Given the description of an element on the screen output the (x, y) to click on. 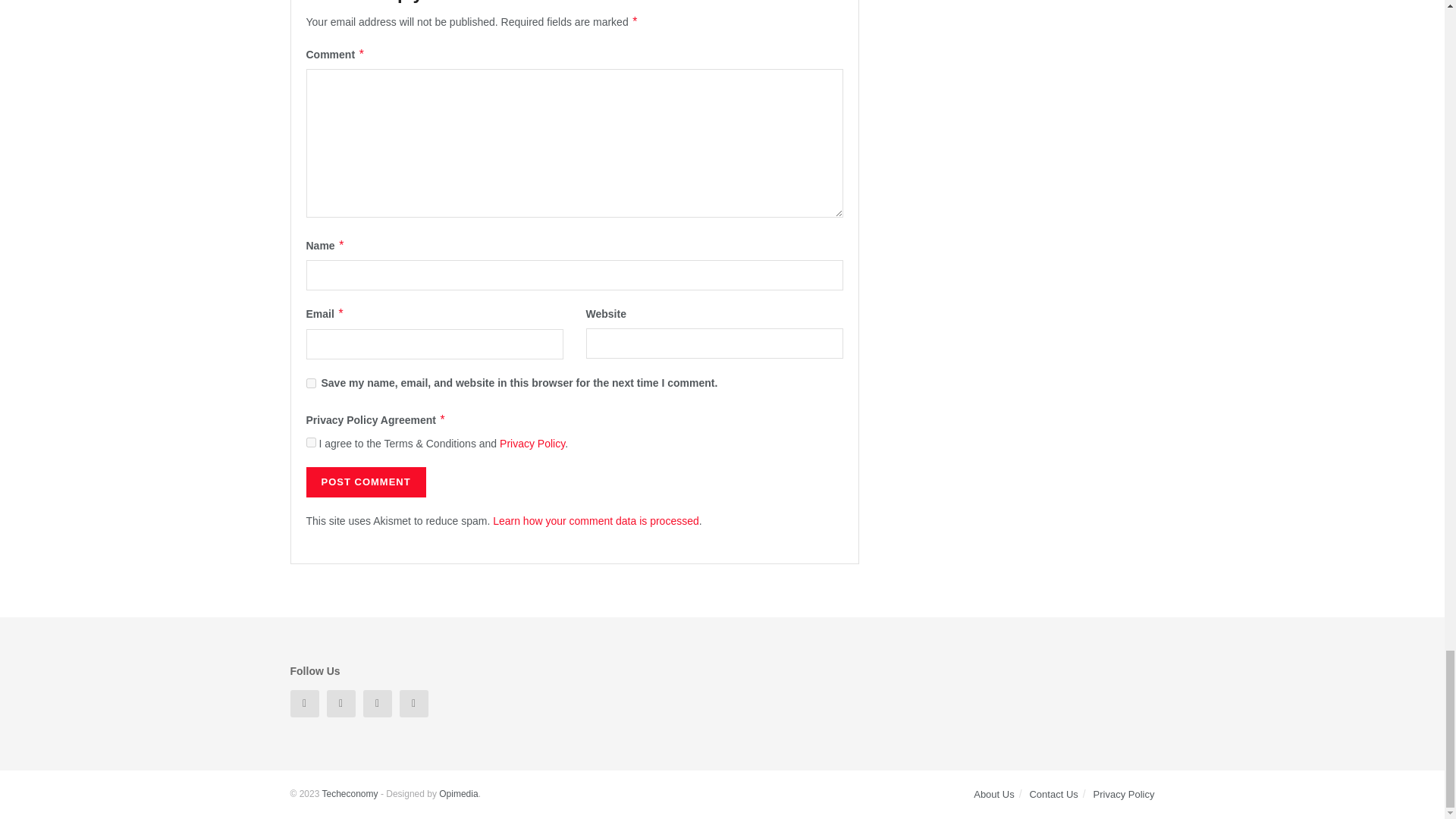
on (310, 442)
yes (310, 383)
Techeconomy (349, 793)
Opmedia (458, 793)
Post Comment (365, 481)
